Given the description of an element on the screen output the (x, y) to click on. 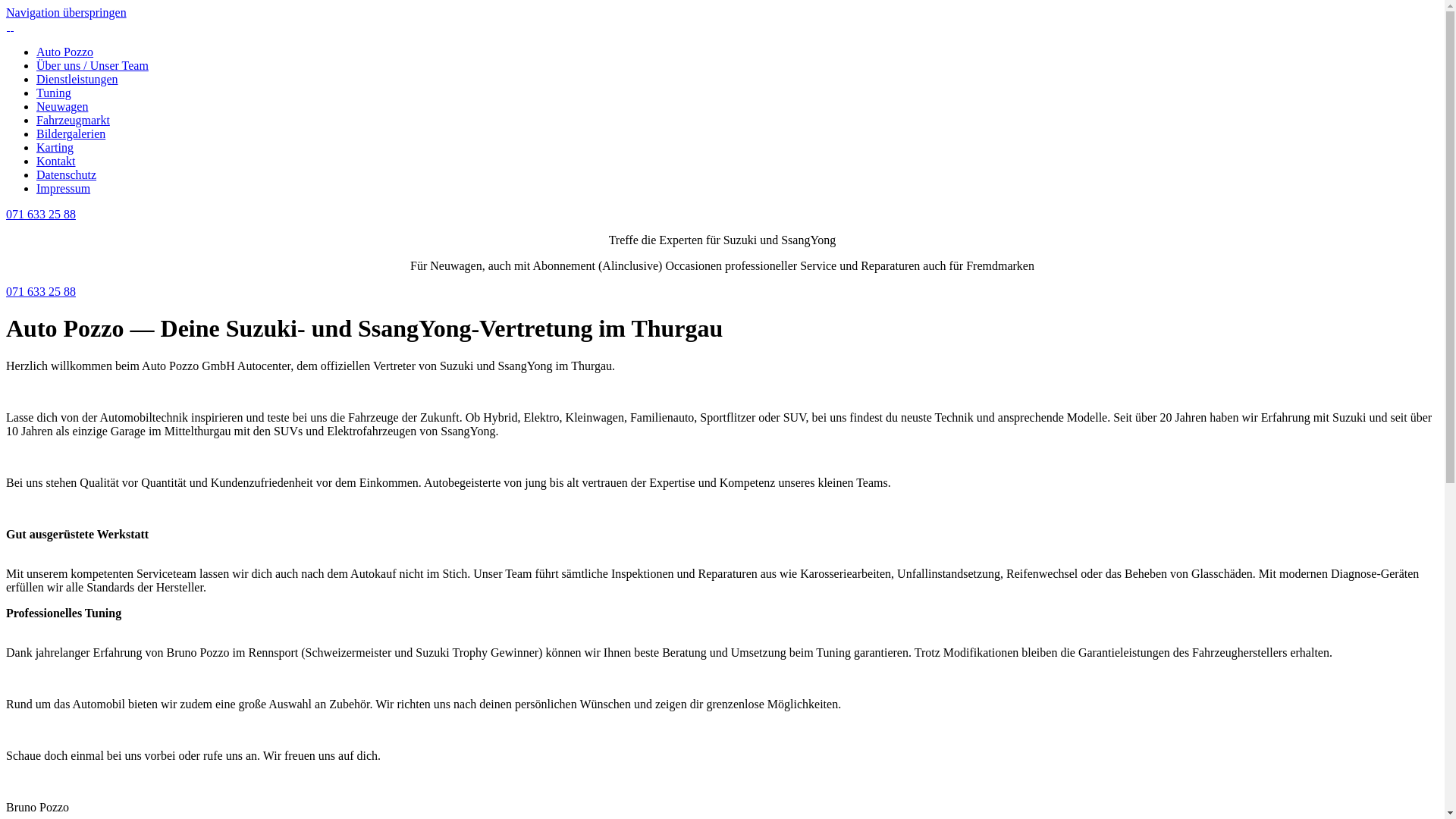
Tuning Element type: text (53, 92)
Impressum Element type: text (63, 188)
Karting Element type: text (54, 147)
Fahrzeugmarkt Element type: text (72, 119)
Kontakt Element type: text (55, 160)
Dienstleistungen Element type: text (77, 78)
071 633 25 88 Element type: text (40, 291)
Auto Pozzo Element type: text (64, 51)
071 633 25 88 Element type: text (40, 213)
Datenschutz Element type: text (66, 174)
Bildergalerien Element type: text (70, 133)
Neuwagen Element type: text (61, 106)
